Given the description of an element on the screen output the (x, y) to click on. 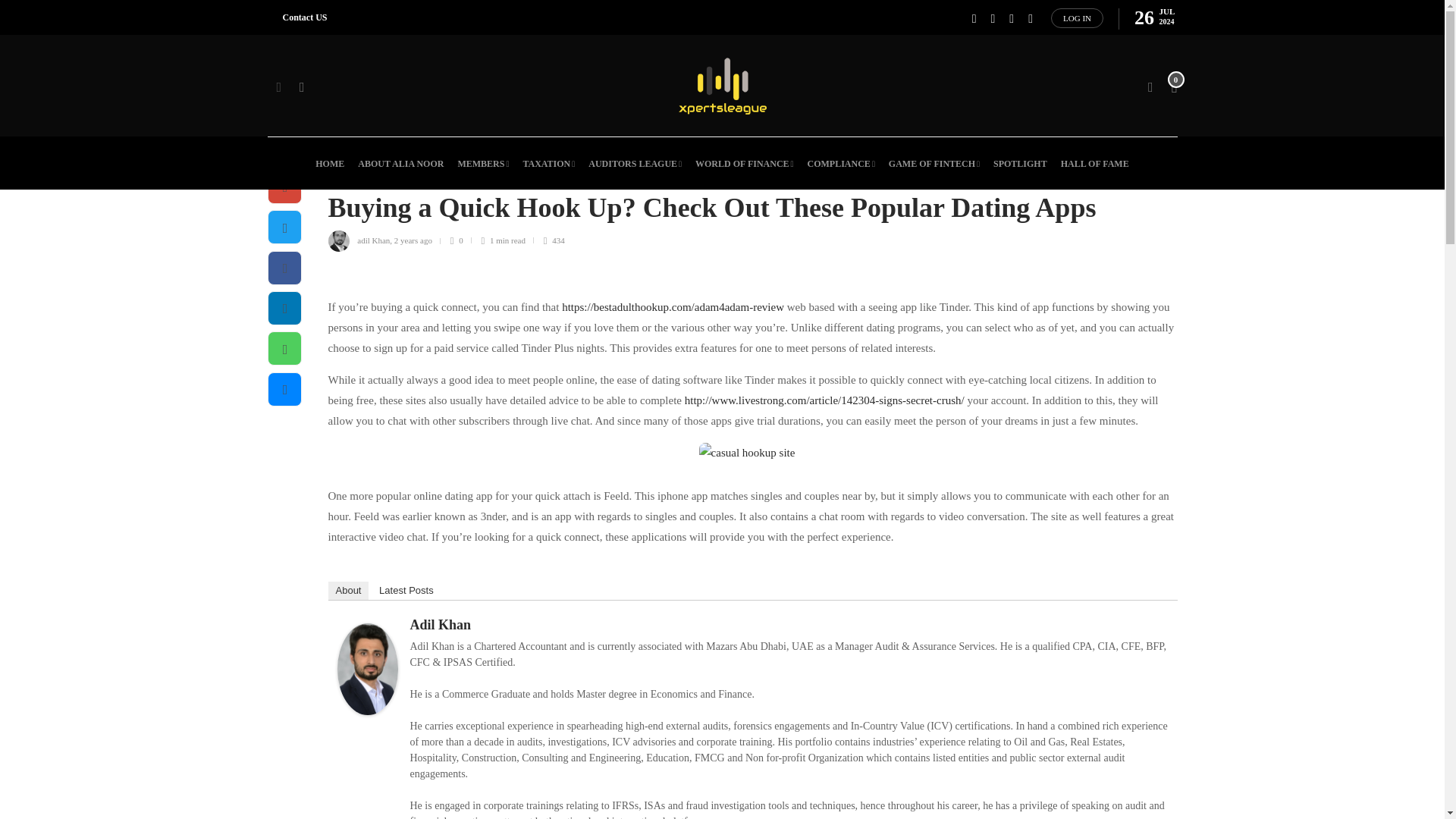
adil Khan (372, 673)
